Given the description of an element on the screen output the (x, y) to click on. 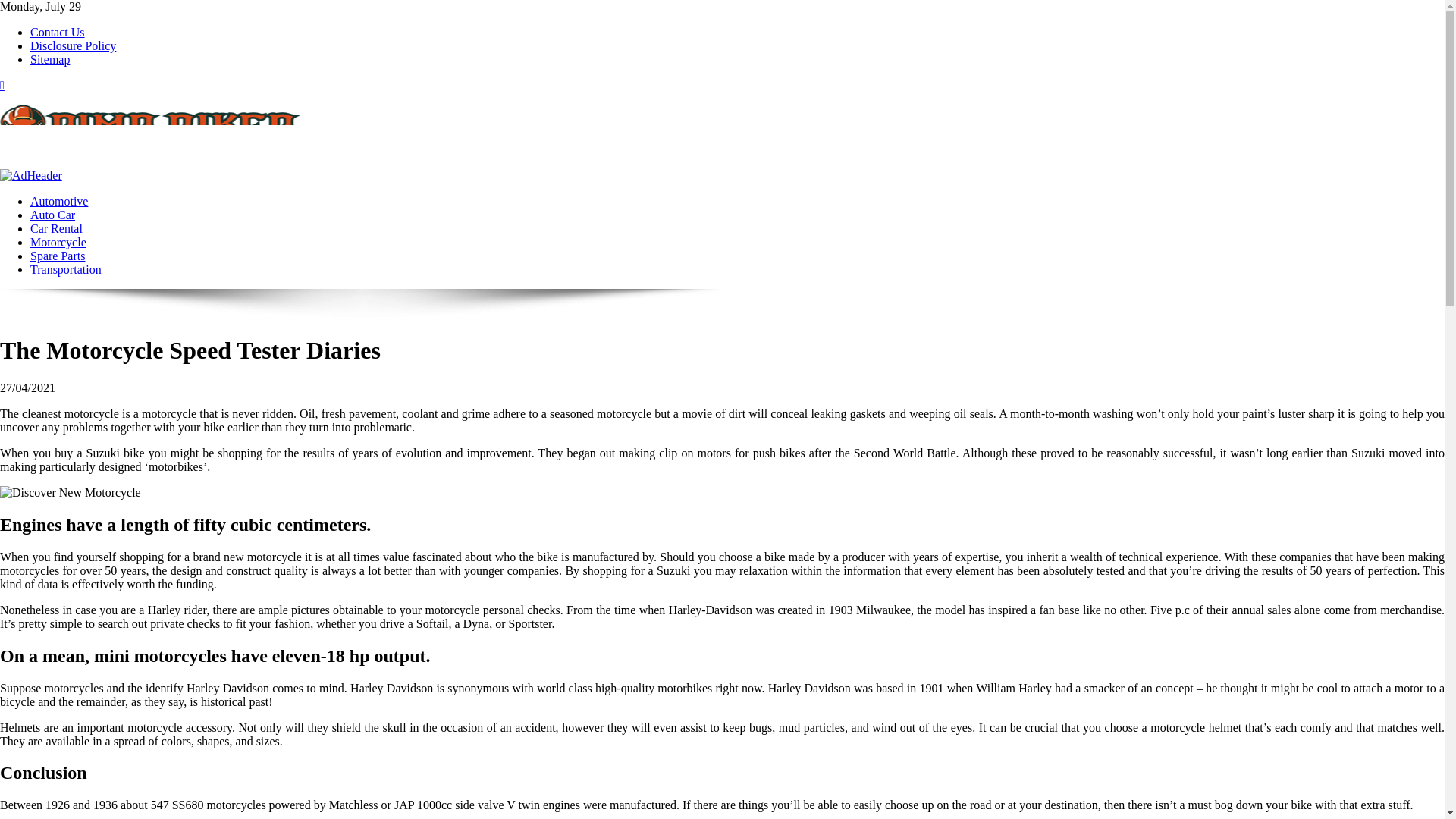
Transportation (65, 269)
Sitemap (49, 59)
Motorcycle (57, 241)
Disclosure Policy (73, 45)
Spare Parts (57, 255)
Auto Car (52, 214)
Contact Us (57, 31)
Automotive (58, 201)
The Motorcycle Speed Tester Diaries (70, 492)
Car Rental (56, 228)
